Given the description of an element on the screen output the (x, y) to click on. 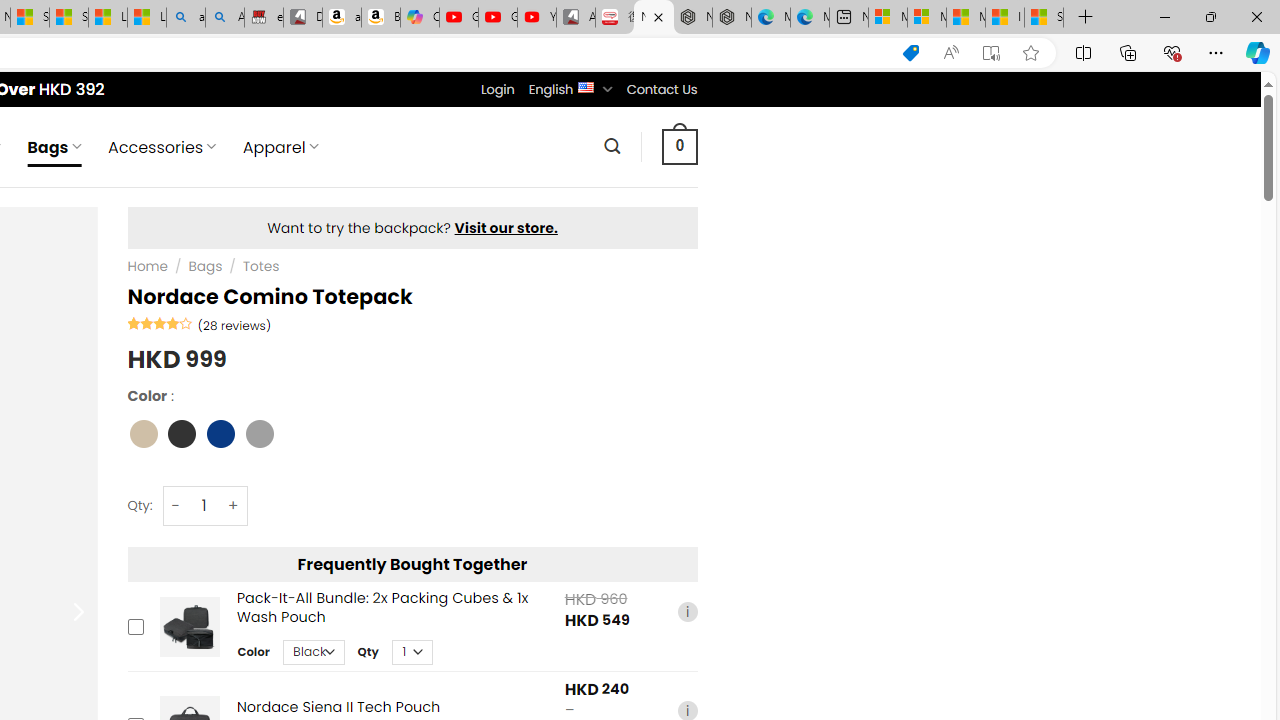
Pack-It-All Bundle: 2x Packing Cubes & 1x Wash Pouch (189, 626)
Nordace Comino Totepack (653, 17)
